Given the description of an element on the screen output the (x, y) to click on. 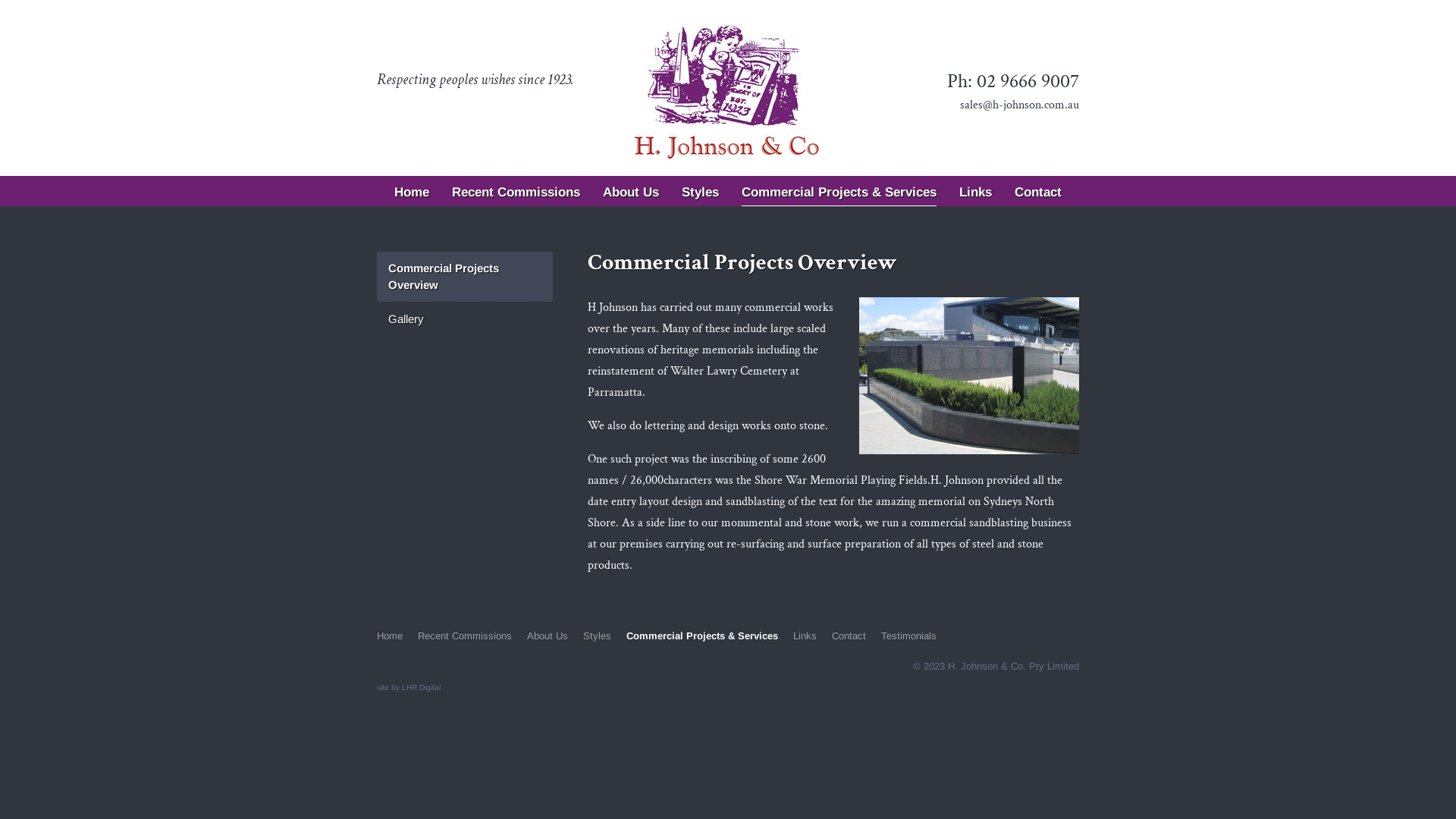
Home Element type: text (411, 185)
Commercial Projects Overview Element type: text (464, 276)
Contact Element type: text (1037, 185)
Commercial Projects & Services Element type: text (702, 638)
Testimonials Element type: text (728, 215)
Links Element type: text (804, 638)
Testimonials Element type: text (908, 638)
Recent Commissions Element type: text (515, 185)
Contact Element type: text (848, 638)
Home Element type: text (389, 638)
Styles Element type: text (597, 638)
Recent Commissions Element type: text (464, 638)
sales@h-johnson.com.au Element type: text (1019, 104)
Links Element type: text (975, 185)
site by LHR Digital Element type: text (408, 687)
Styles Element type: text (699, 185)
Gallery Element type: text (464, 318)
Commercial Projects & Services Element type: text (838, 186)
About Us Element type: text (630, 185)
About Us Element type: text (547, 638)
